Given the description of an element on the screen output the (x, y) to click on. 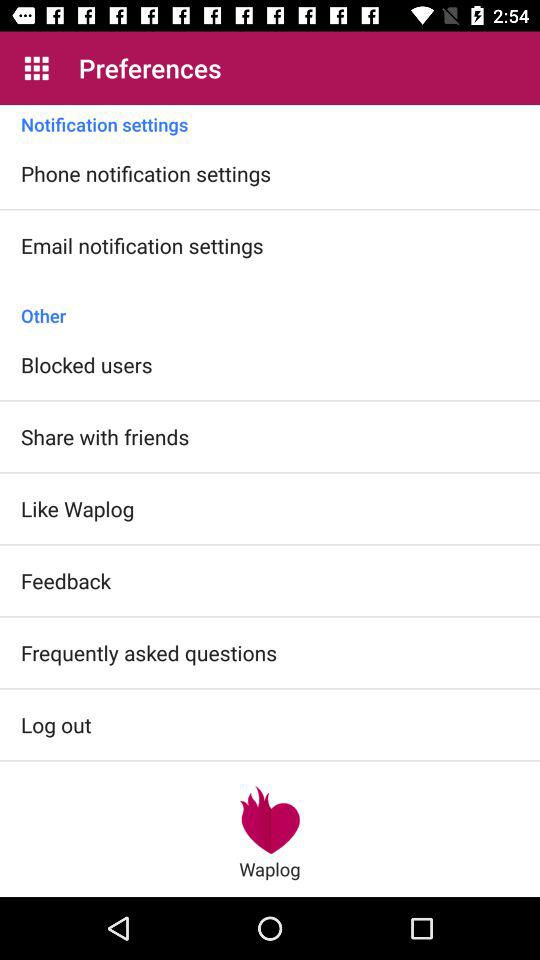
press like waplog (77, 508)
